Given the description of an element on the screen output the (x, y) to click on. 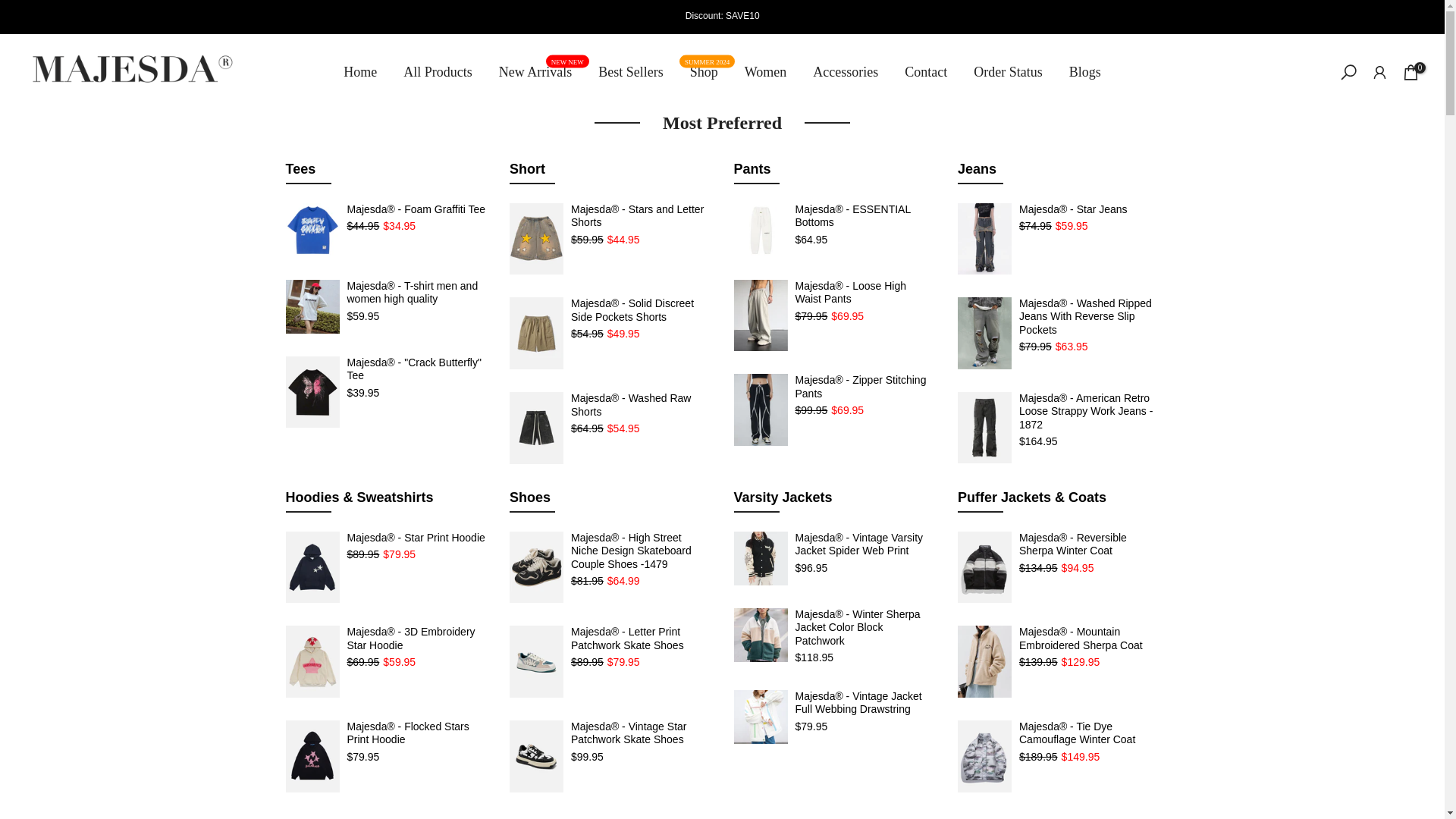
Women (764, 71)
Best Sellers (631, 71)
All Products (438, 71)
Skip to content (534, 71)
Home (703, 71)
